Given the description of an element on the screen output the (x, y) to click on. 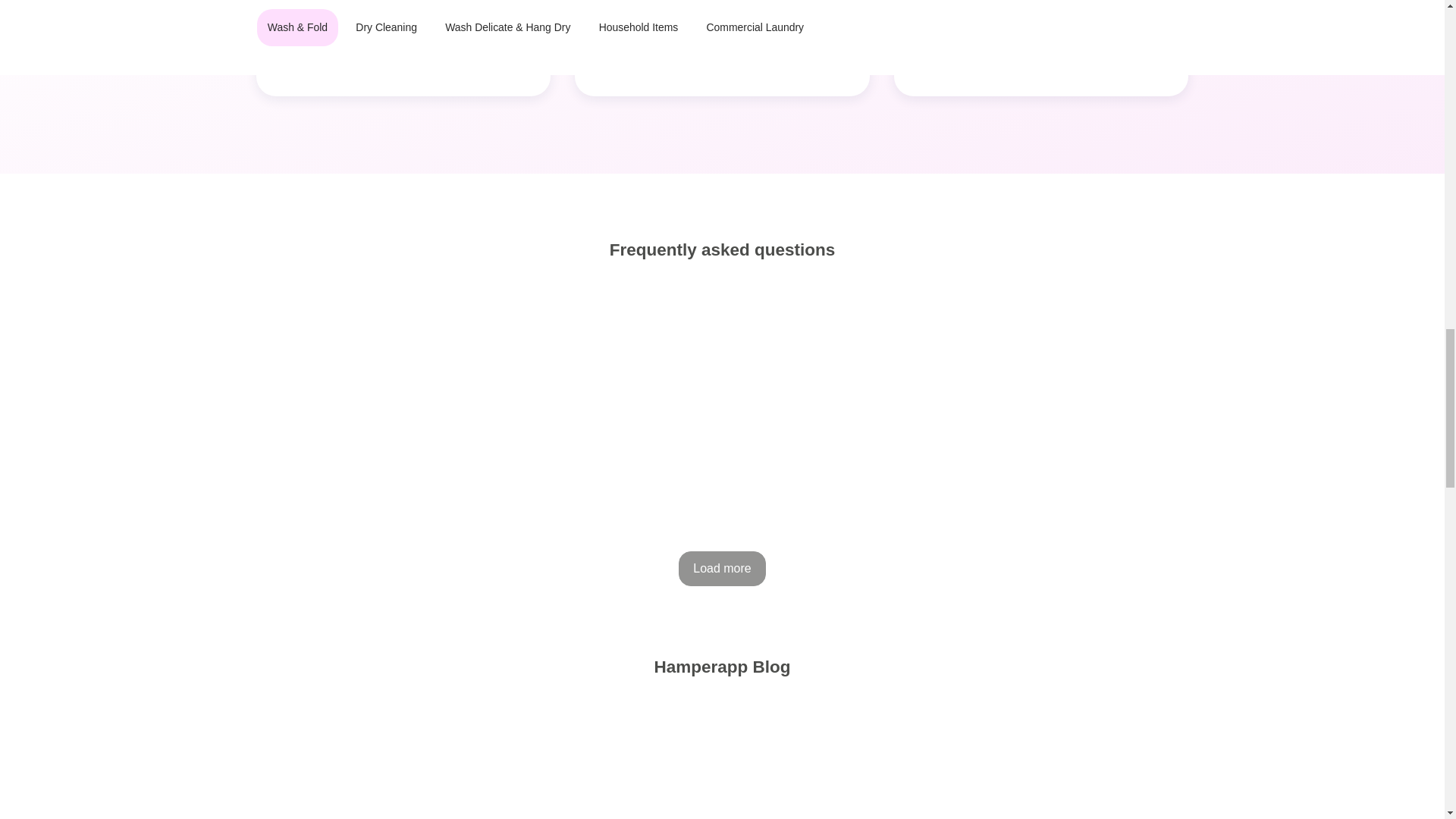
Load more (721, 568)
